Given the description of an element on the screen output the (x, y) to click on. 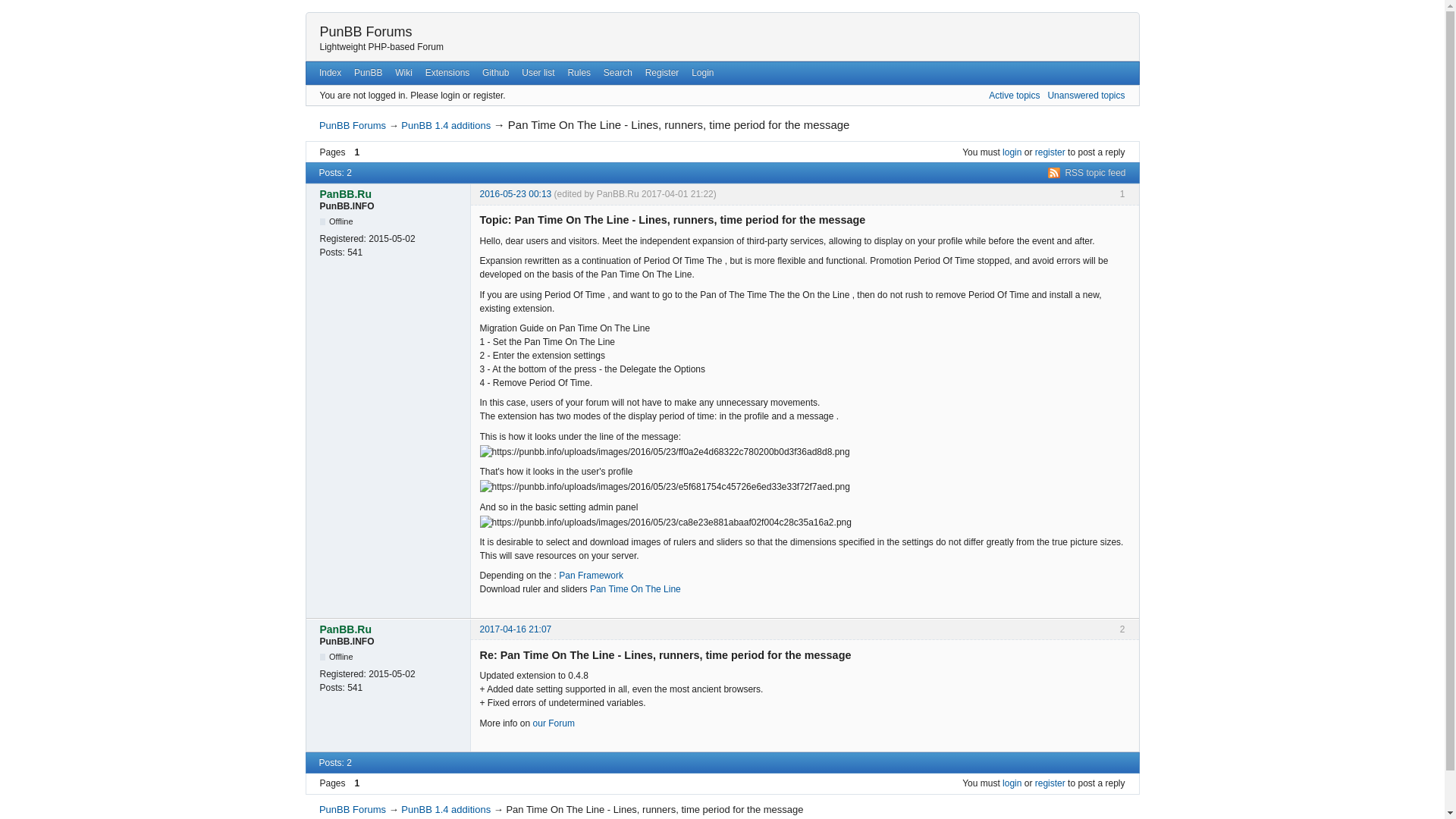
Permanent link to this post (515, 629)
PunBB Forums (366, 31)
2016-05-23 00:13 (515, 194)
Index (330, 72)
Go to PanBB.Ru's profile (390, 629)
Github (495, 72)
Login (702, 72)
Active topics (1013, 95)
Permanent link to this post (515, 194)
Extensions (447, 72)
